Given the description of an element on the screen output the (x, y) to click on. 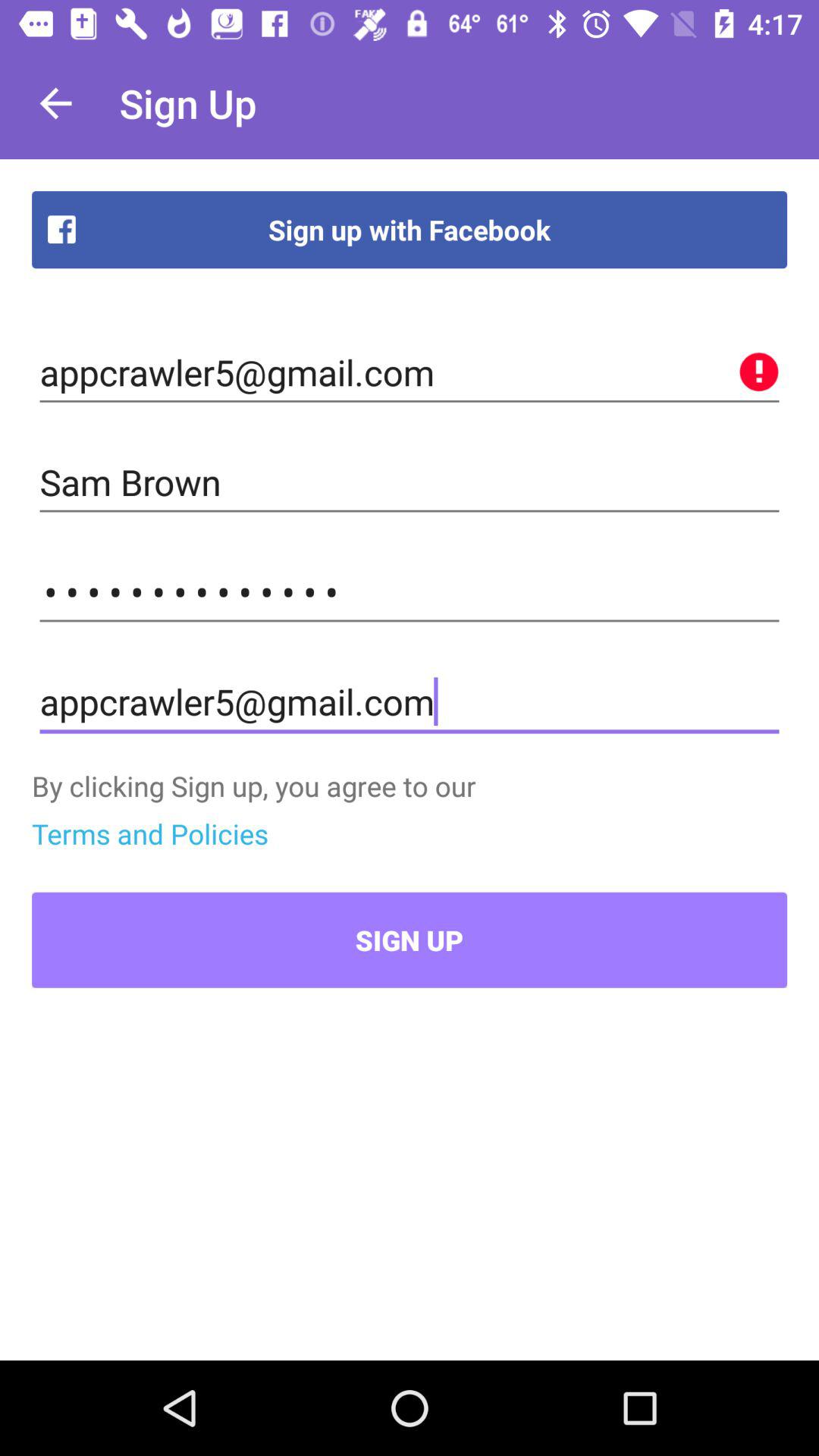
turn on icon above the sign up with item (55, 103)
